Given the description of an element on the screen output the (x, y) to click on. 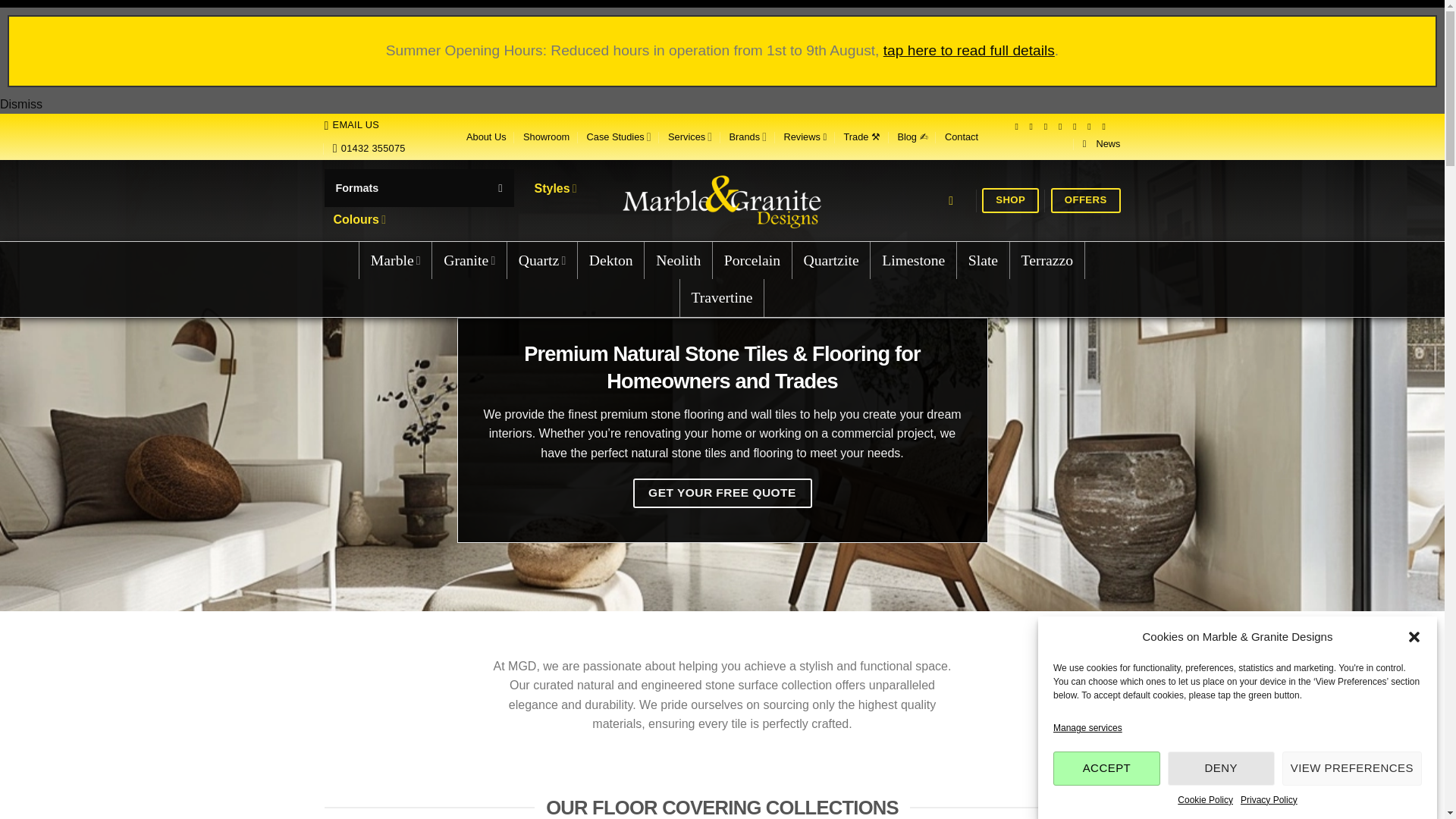
Join our Newsletter (1102, 143)
01432 355075 (369, 148)
About Us (485, 137)
Case Studies (618, 137)
Showroom (545, 137)
EMAIL US (351, 124)
01432 355075 (369, 148)
Dismiss (21, 103)
tap here to read full details (968, 50)
